Given the description of an element on the screen output the (x, y) to click on. 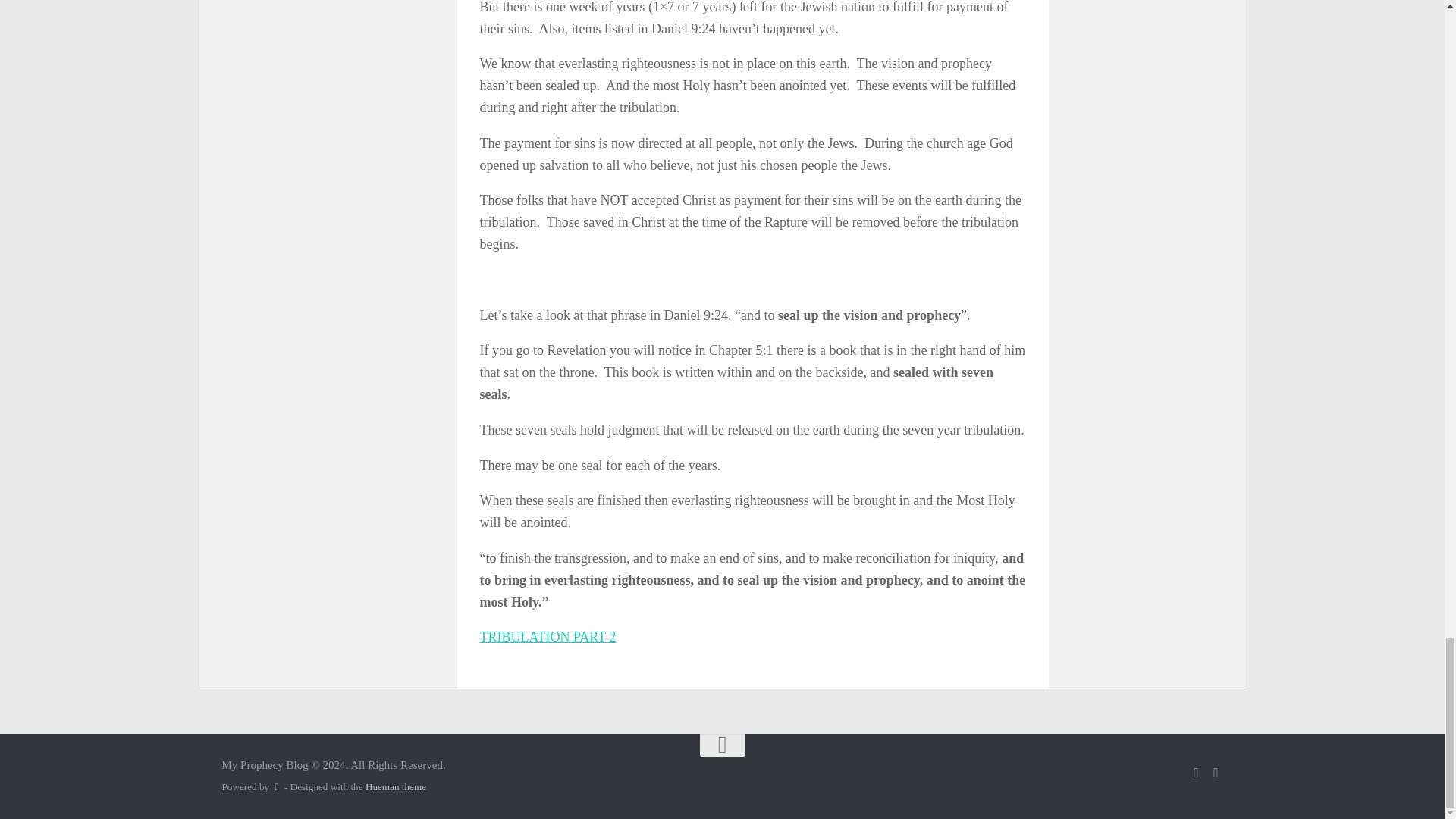
Follow us on Facebook (1195, 772)
TRIBULATION PART 2 (547, 636)
Powered by WordPress (275, 786)
Hueman theme (395, 786)
Follow us on Twitter (1215, 772)
